Given the description of an element on the screen output the (x, y) to click on. 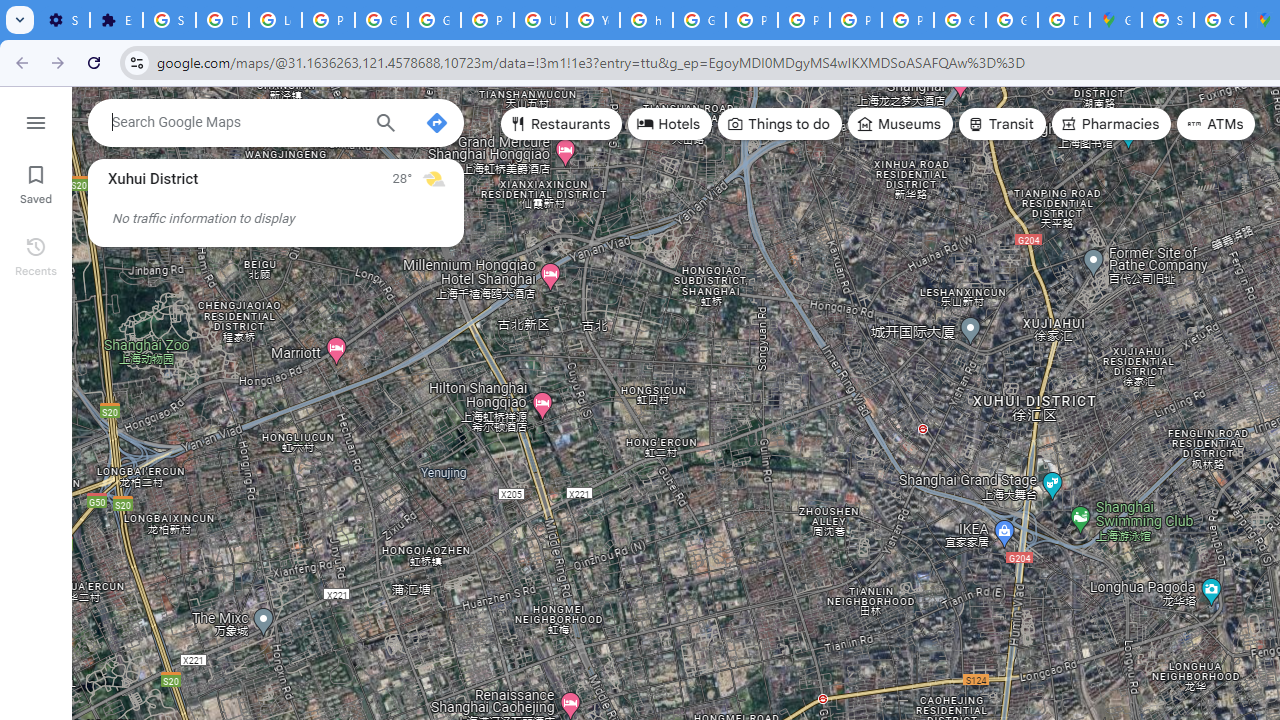
Settings - On startup (63, 20)
Create your Google Account (1219, 20)
Things to do (780, 124)
Google Account Help (381, 20)
Directions (436, 122)
Sign in - Google Accounts (1167, 20)
Recents (35, 254)
Hotels (670, 124)
Delete photos & videos - Computer - Google Photos Help (222, 20)
